Given the description of an element on the screen output the (x, y) to click on. 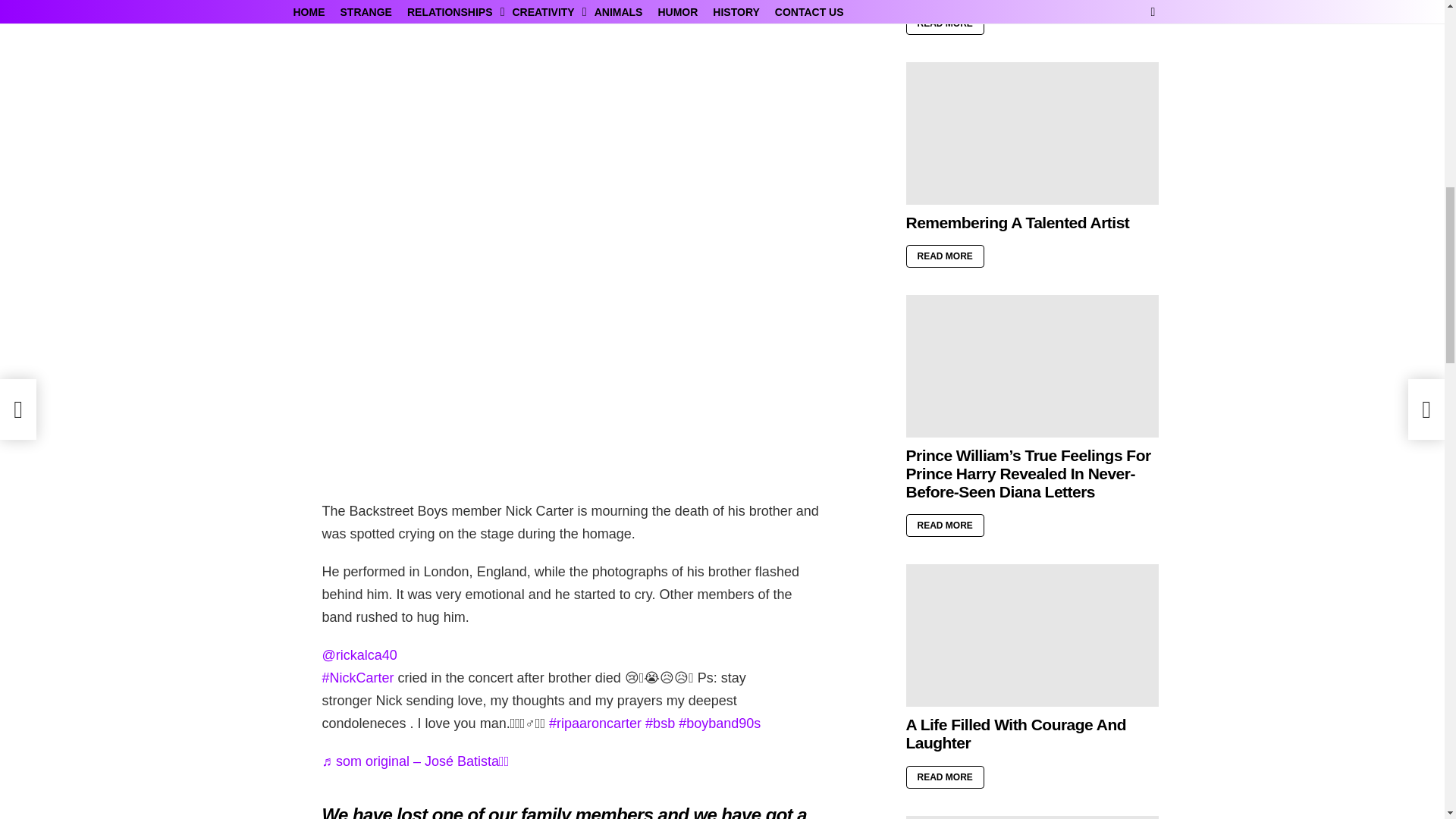
nickcarter (357, 677)
